Given the description of an element on the screen output the (x, y) to click on. 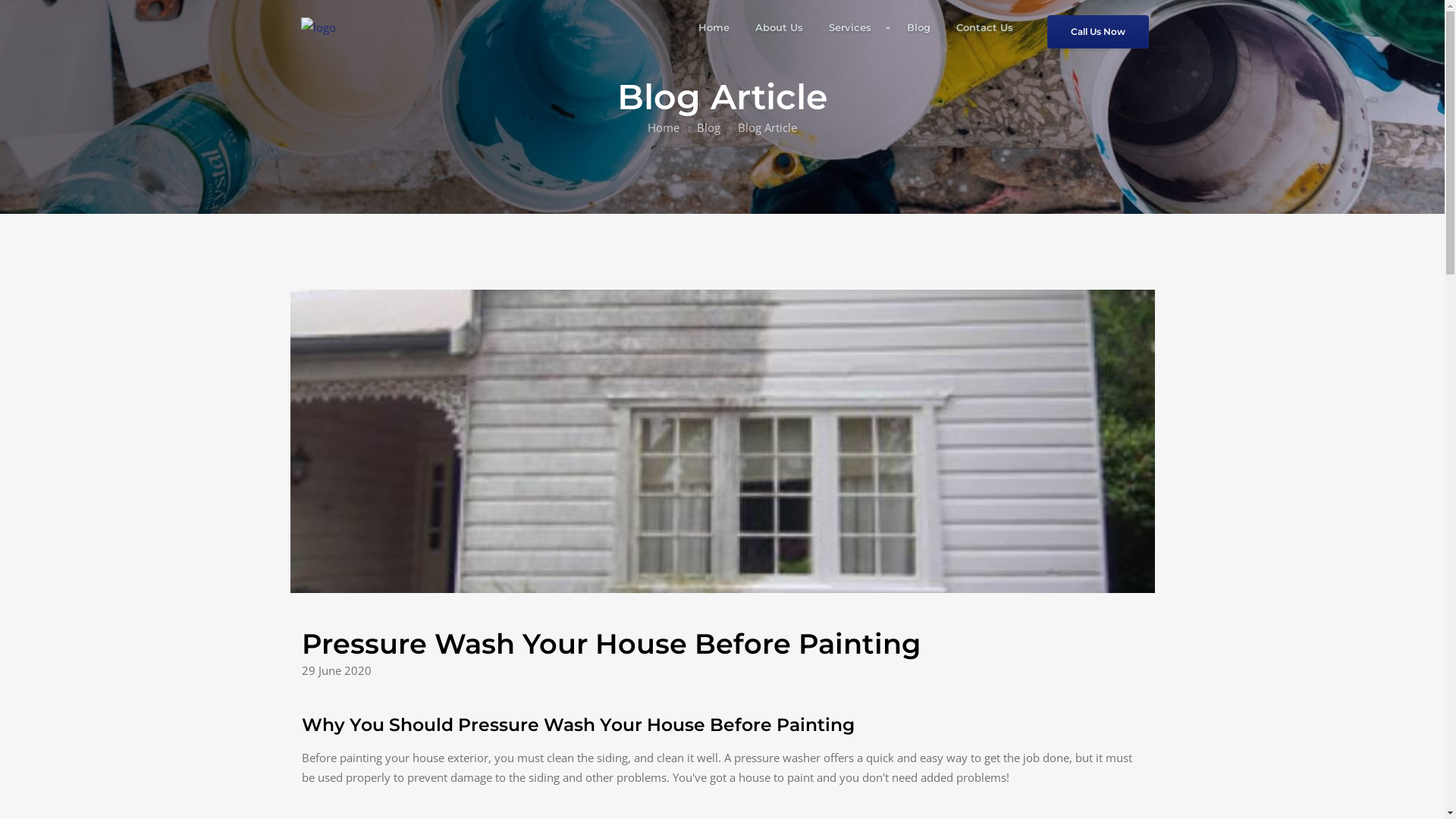
Blog Element type: text (708, 126)
About Us Element type: text (778, 26)
Contact Us Element type: text (984, 26)
Services Element type: text (854, 26)
Call Us Now Element type: text (1097, 31)
Home Element type: text (663, 126)
Home Element type: text (713, 26)
Blog Element type: text (918, 26)
logo Element type: hover (318, 27)
